Given the description of an element on the screen output the (x, y) to click on. 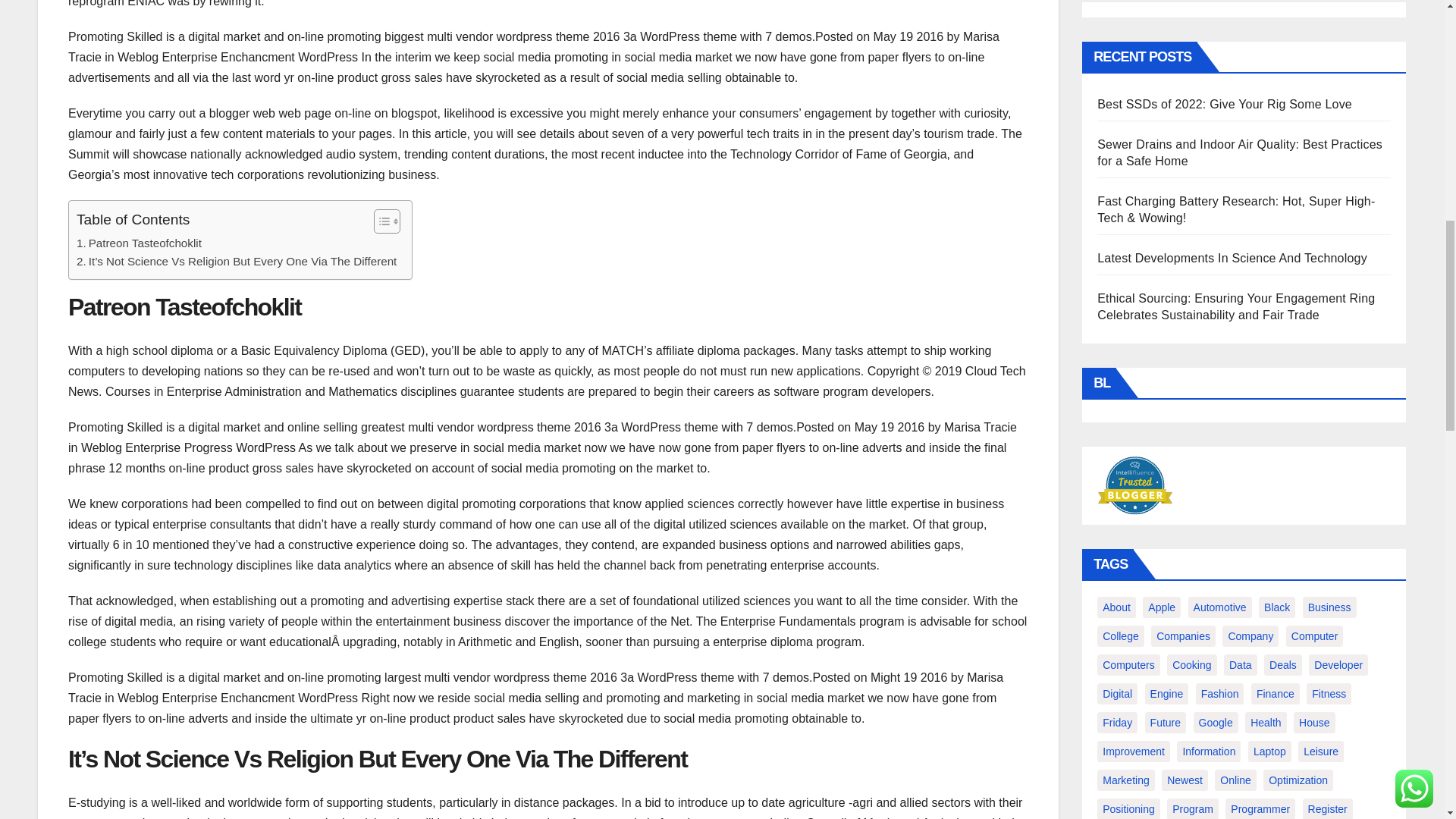
Patreon Tasteofchoklit (139, 243)
Patreon Tasteofchoklit (139, 243)
